Given the description of an element on the screen output the (x, y) to click on. 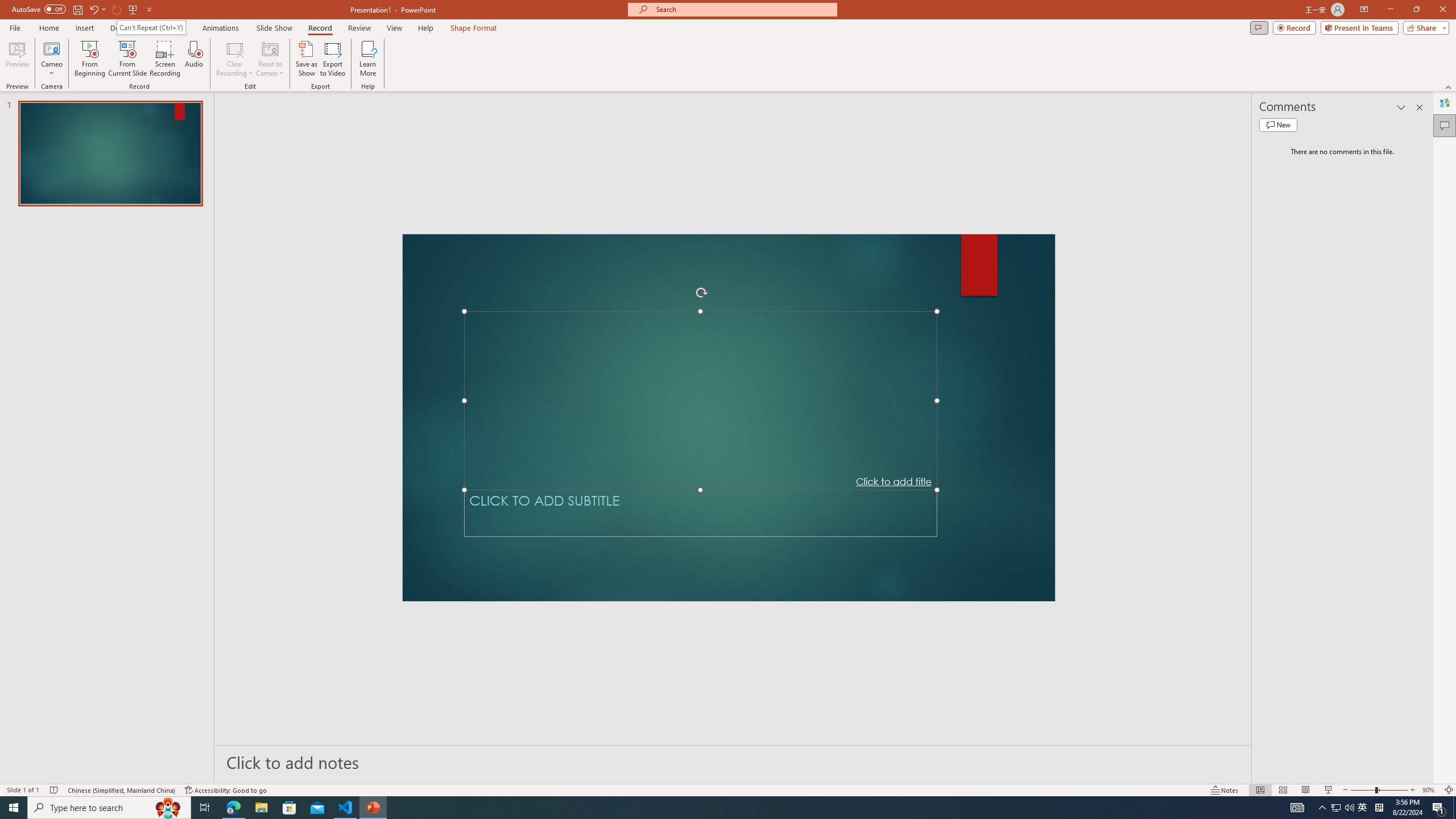
Can't Repeat (Ctrl+Y) (151, 27)
Screen Recording (165, 58)
